Given the description of an element on the screen output the (x, y) to click on. 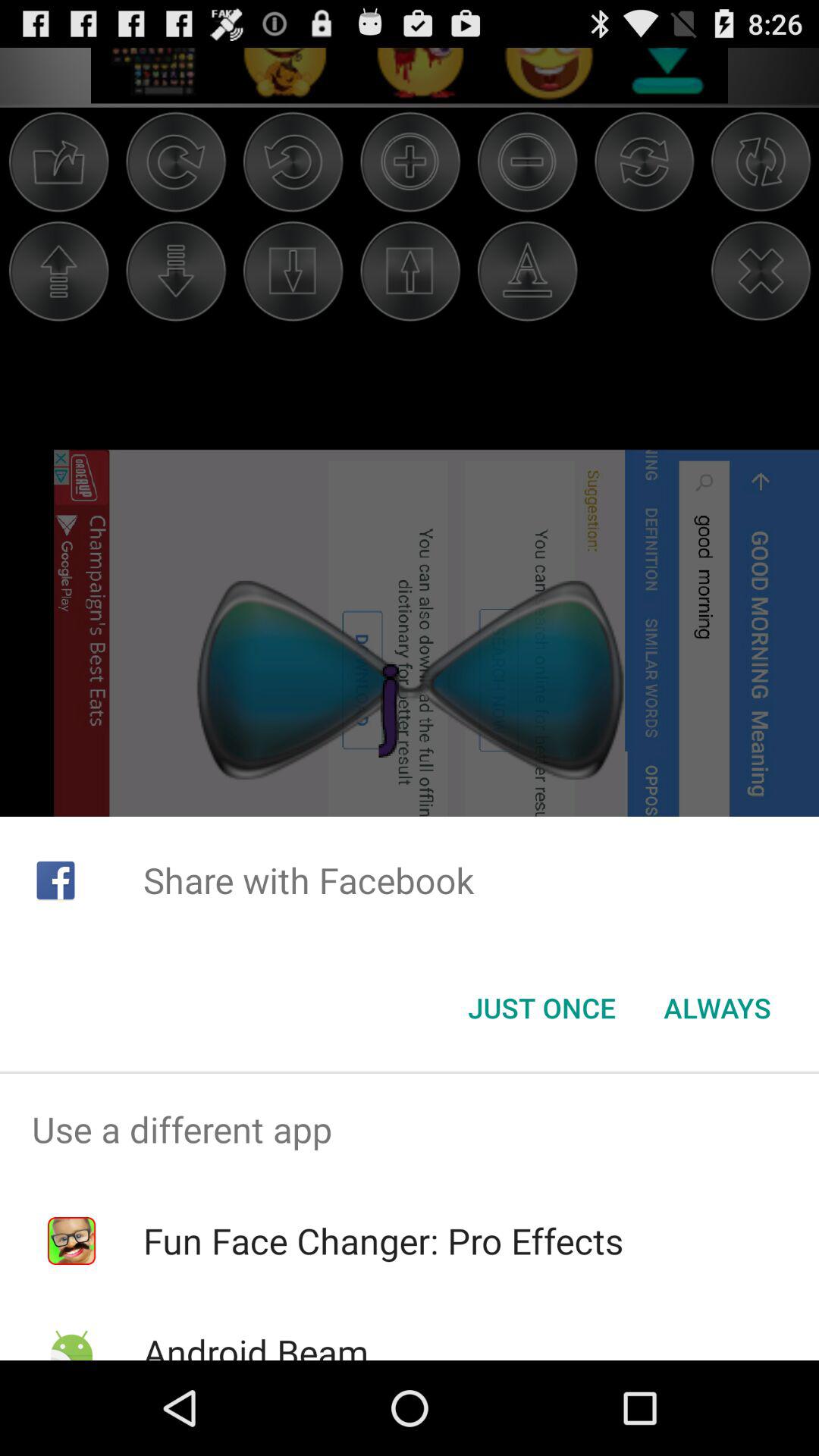
select icon to the left of always icon (541, 1007)
